Given the description of an element on the screen output the (x, y) to click on. 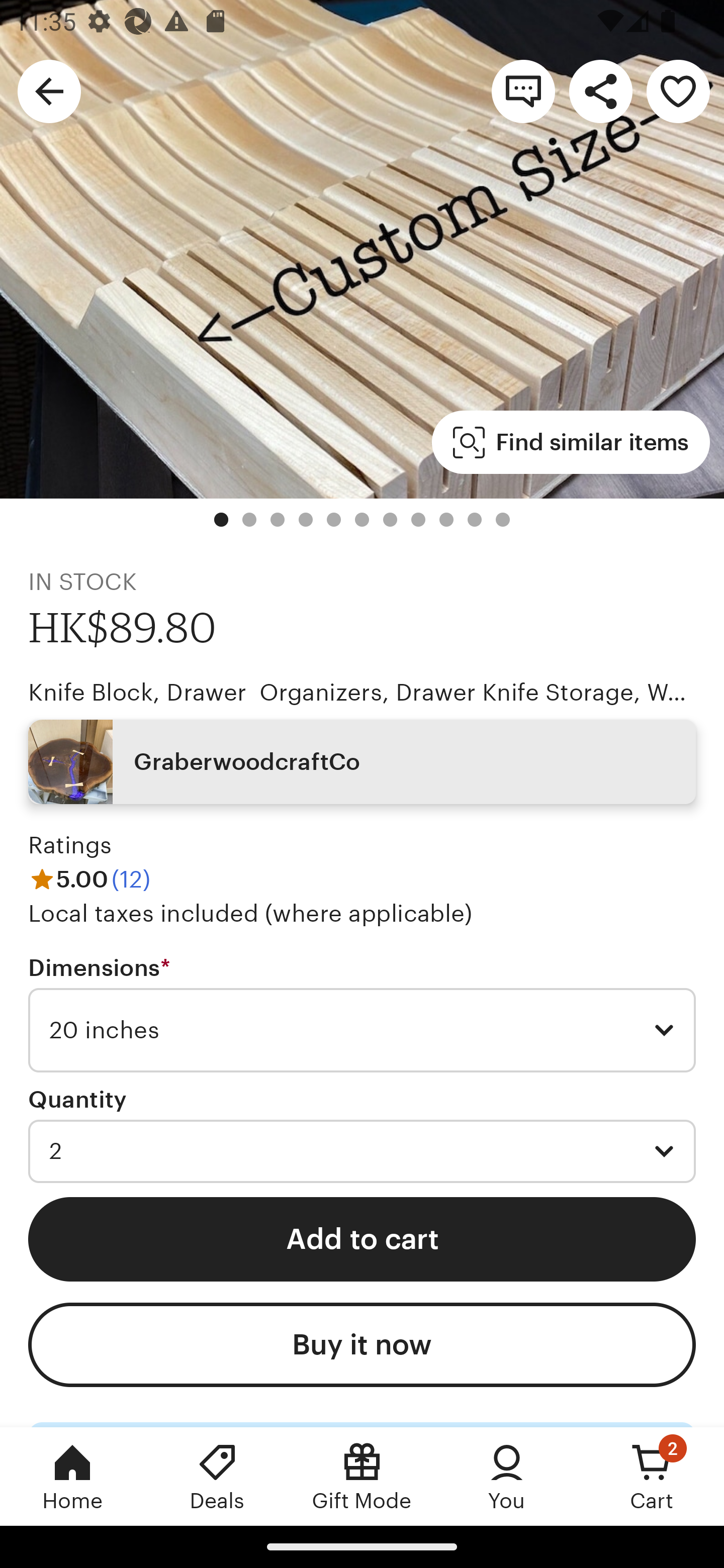
Navigate up (49, 90)
Contact shop (523, 90)
Share (600, 90)
Find similar items (571, 441)
GraberwoodcraftCo (361, 761)
Ratings (70, 844)
5.00 (12) (89, 879)
Dimensions * Required 20 inches (361, 1013)
20 inches (361, 1029)
Quantity (77, 1099)
2 (361, 1150)
Add to cart (361, 1238)
Buy it now (361, 1345)
Deals (216, 1475)
Gift Mode (361, 1475)
You (506, 1475)
Cart, 2 new notifications Cart (651, 1475)
